Given the description of an element on the screen output the (x, y) to click on. 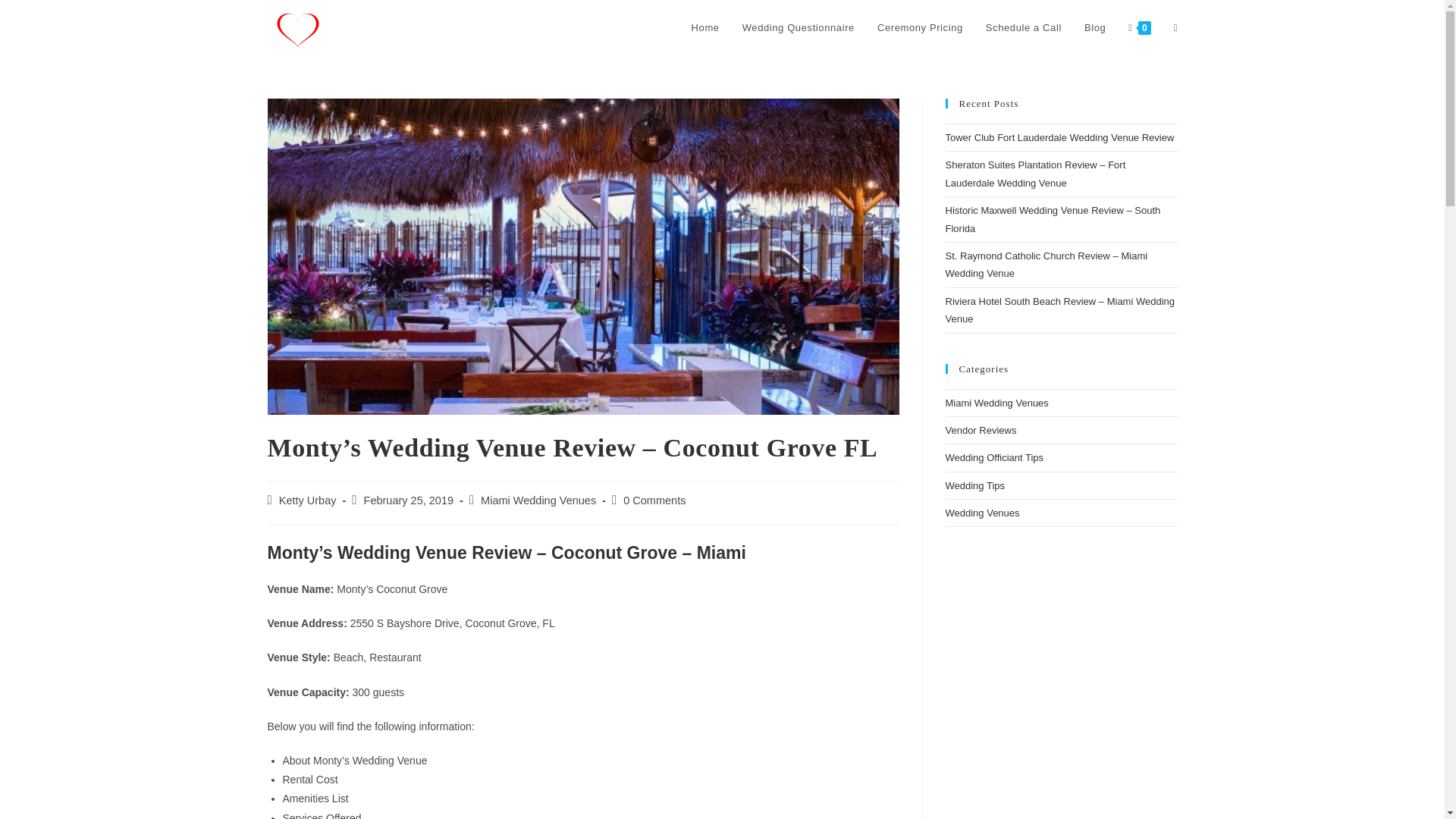
Posts by Ketty Urbay (307, 500)
0 Comments (654, 500)
Vendor Reviews (980, 430)
Home (704, 28)
Schedule a Call (1023, 28)
Miami Wedding Venues (537, 500)
Ketty Urbay (307, 500)
Ceremony Pricing (920, 28)
Miami Wedding Venues (996, 402)
Wedding Questionnaire (798, 28)
Tower Club Fort Lauderdale Wedding Venue Review (1058, 137)
